Given the description of an element on the screen output the (x, y) to click on. 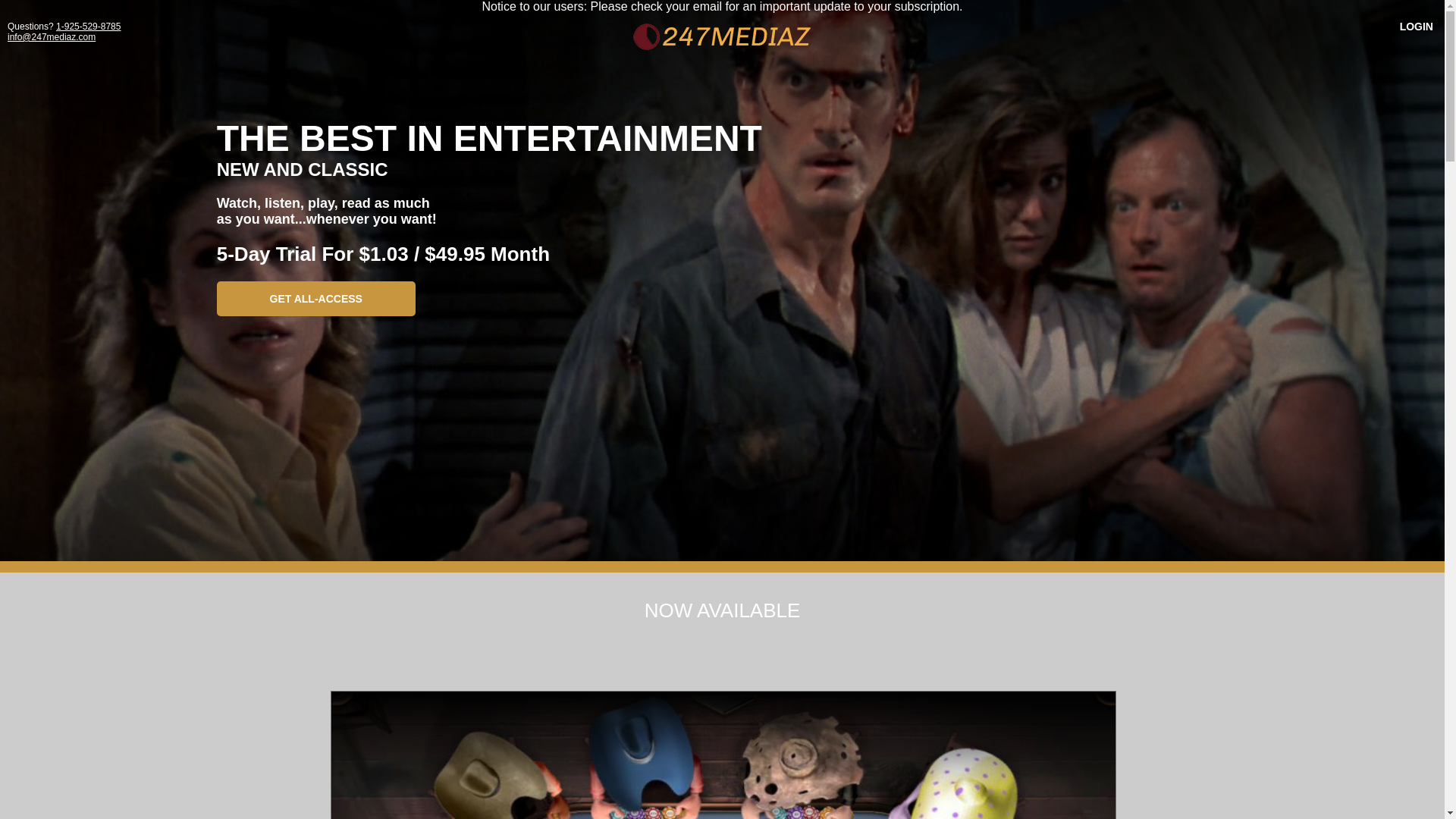
info@247mediaz.com Element type: text (51, 36)
LOGIN Element type: text (1416, 26)
GET ALL-ACCESS Element type: text (315, 298)
1-925-529-8785 Element type: text (88, 26)
